Given the description of an element on the screen output the (x, y) to click on. 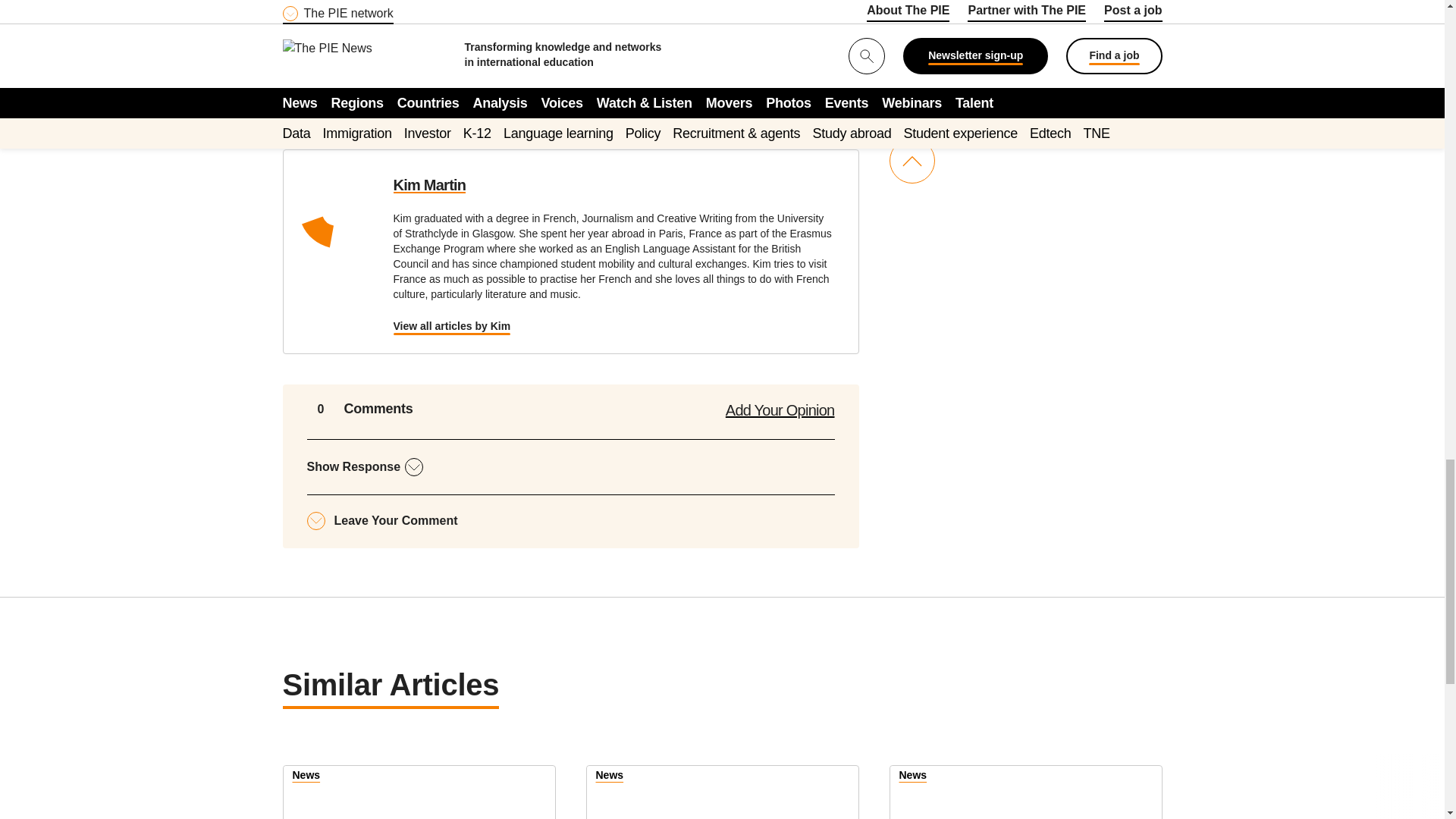
View all News articles (306, 777)
Oxford tops the QS executive MBA Rankings 2024 (722, 792)
View all News articles (609, 777)
View all News articles (912, 777)
